Given the description of an element on the screen output the (x, y) to click on. 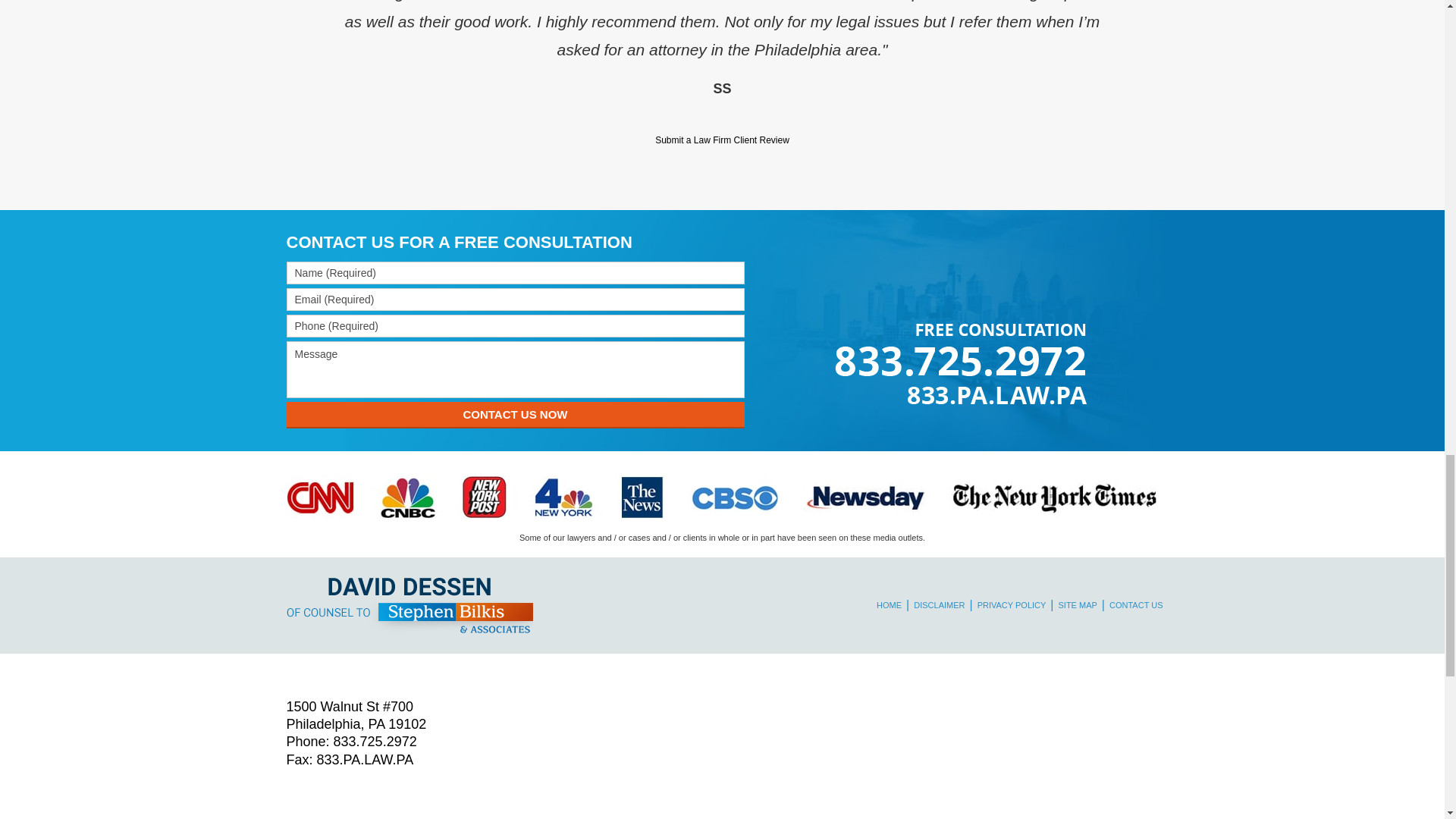
Message (515, 369)
